Given the description of an element on the screen output the (x, y) to click on. 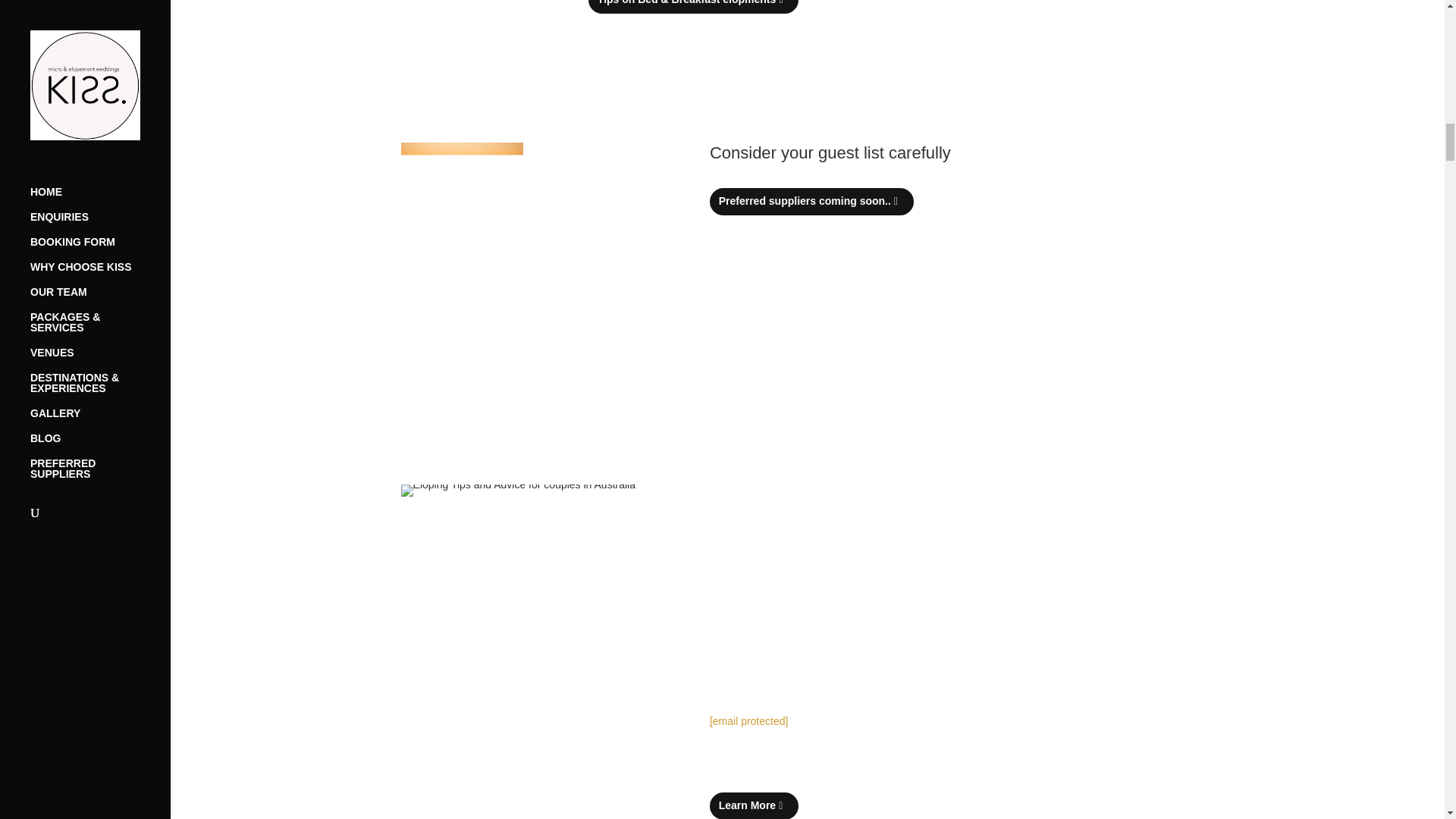
Eloping Tips and Advice  (517, 490)
Preferred suppliers coming soon.. (812, 201)
Learn More (753, 805)
